Given the description of an element on the screen output the (x, y) to click on. 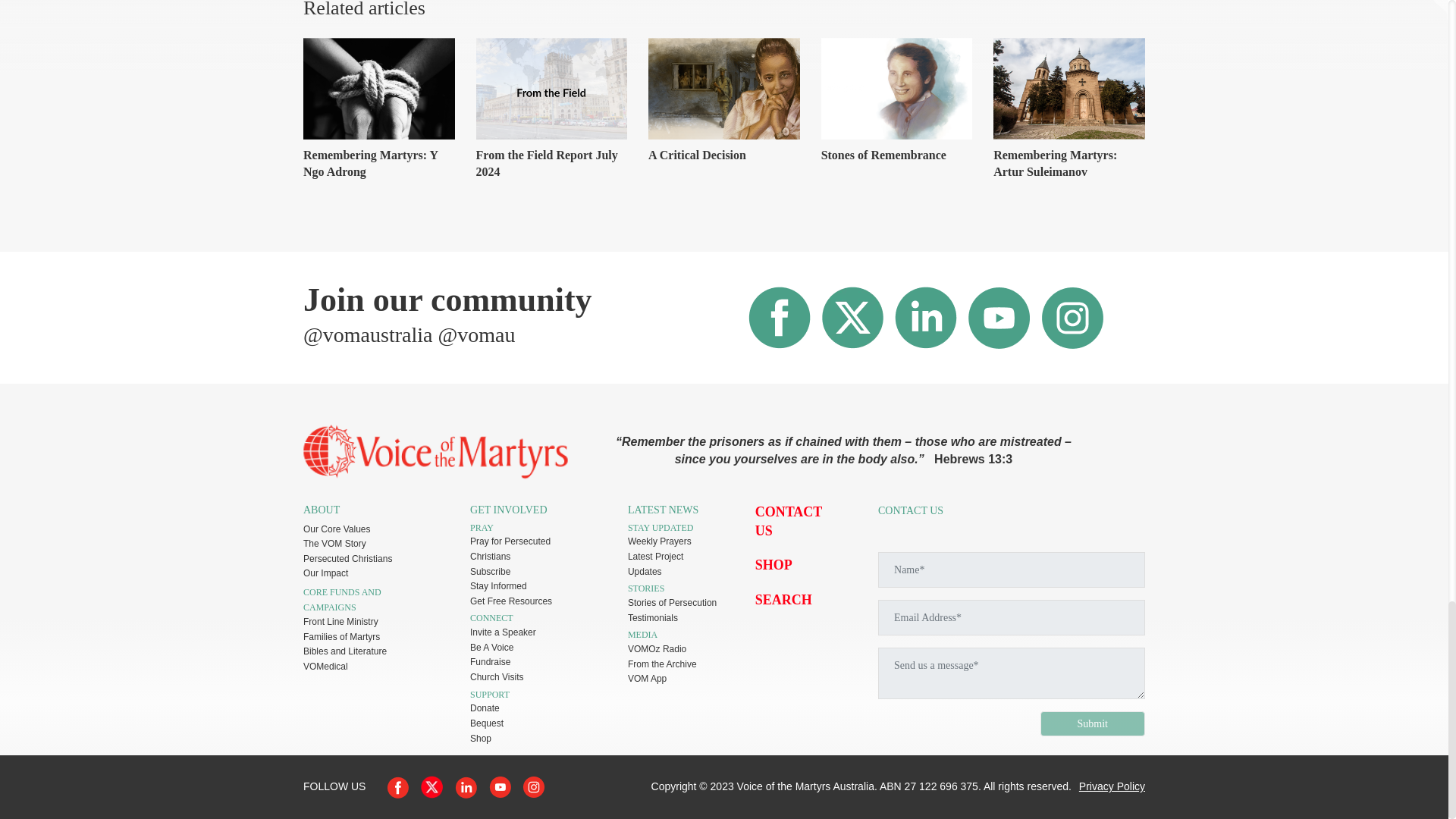
Submit (1092, 723)
